Given the description of an element on the screen output the (x, y) to click on. 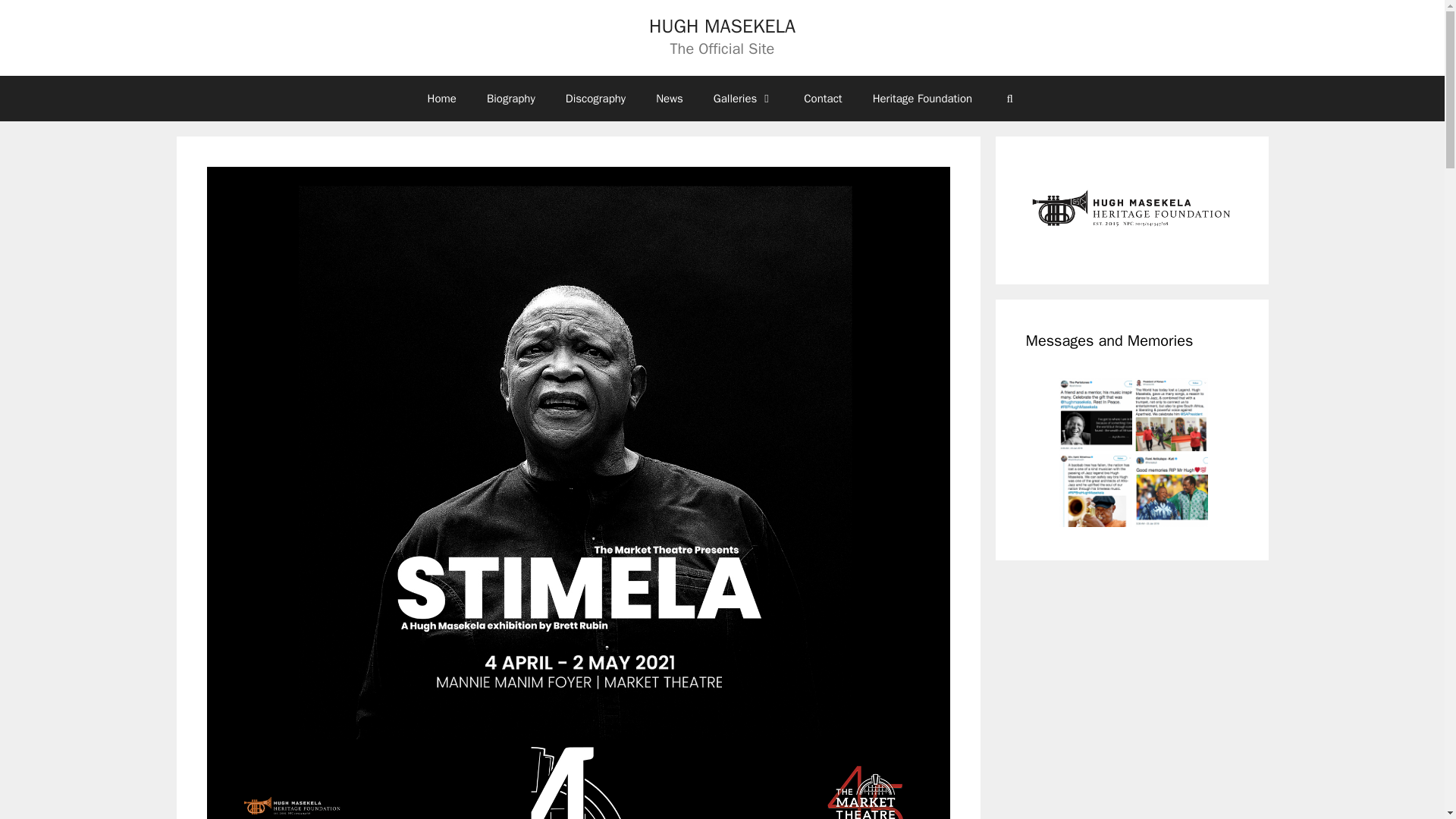
Screen Shot 2018-01-23 at 6.59.25 PM (1170, 414)
Discography (595, 98)
Screen Shot 2018-01-25 at 1.44.15 PM (1094, 490)
News (669, 98)
HMHF LOGO black (1131, 210)
Galleries (743, 98)
Contact (823, 98)
Home (441, 98)
Screen Shot 2018-01-23 at 7.28.54 PM (1094, 414)
Heritage Foundation (922, 98)
